Given the description of an element on the screen output the (x, y) to click on. 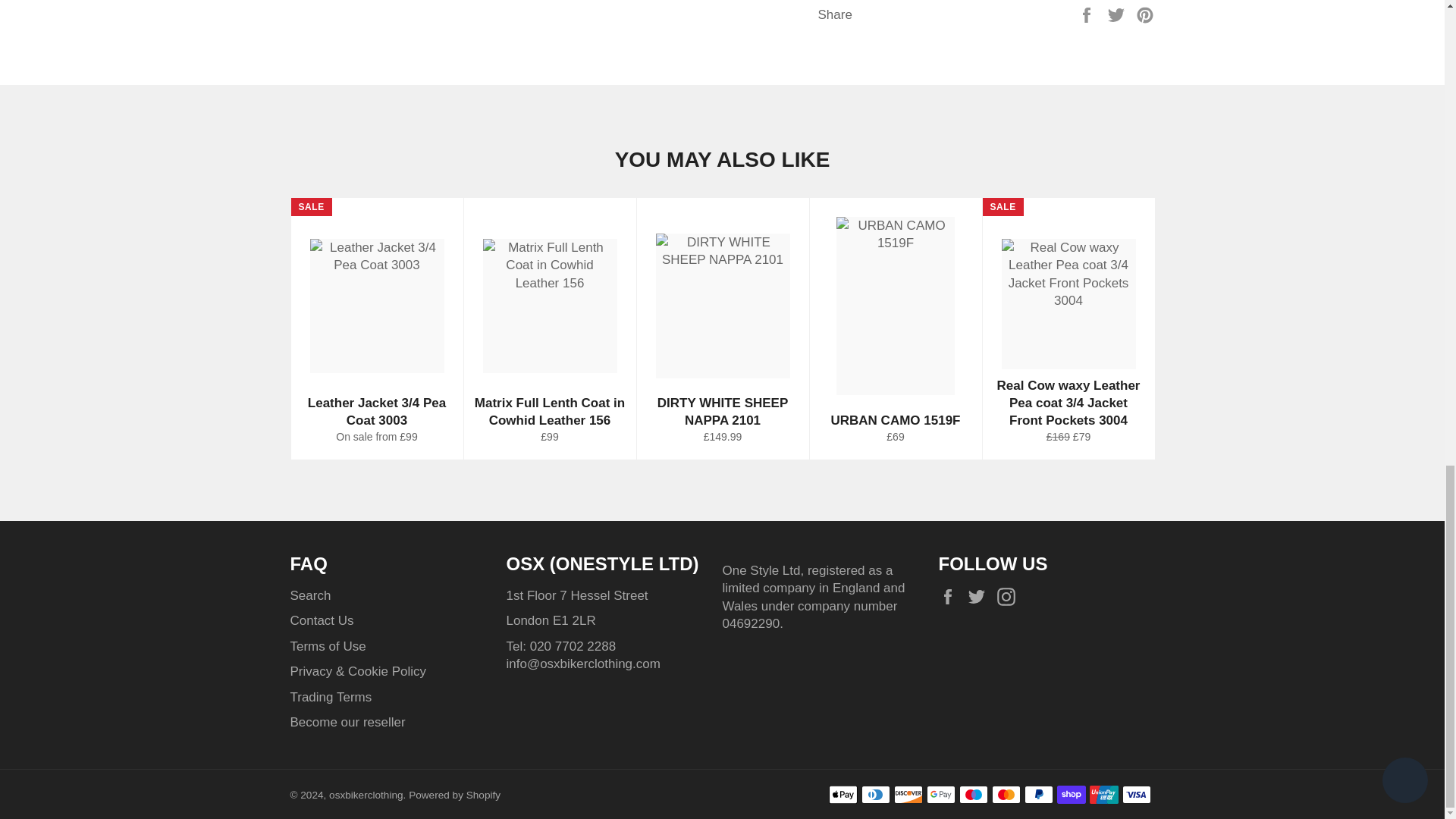
osxbikerclothing on Facebook (951, 596)
osxbikerclothing on Instagram (1010, 596)
Pin on Pinterest (1144, 14)
Tweet on Twitter (1117, 14)
Share on Facebook (1088, 14)
osxbikerclothing on Twitter (980, 596)
